Given the description of an element on the screen output the (x, y) to click on. 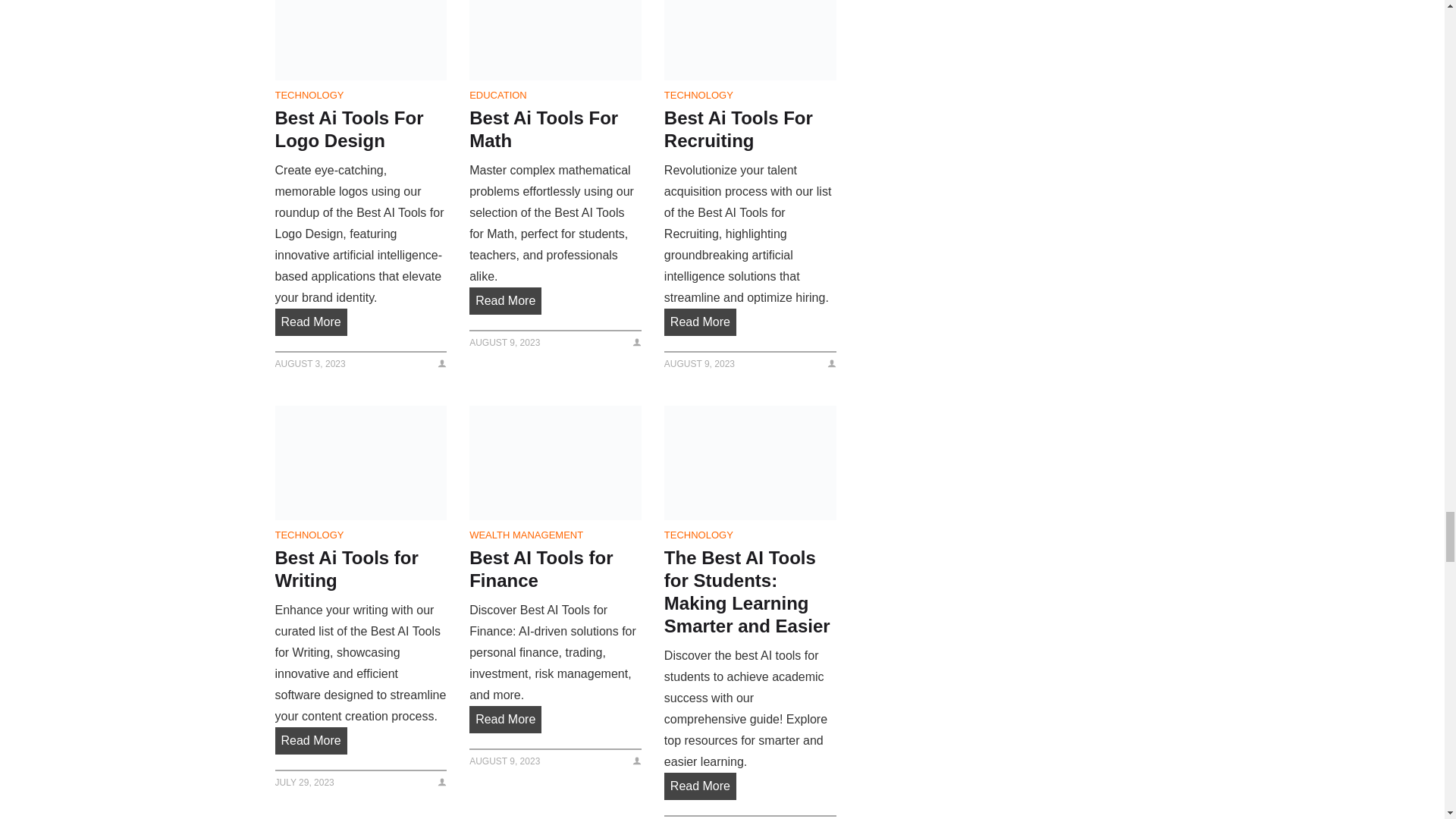
Best AI Tools for Finance (555, 462)
Best Ai Tools For Recruiting (749, 40)
Best Ai Tools for Writing (360, 462)
TECHNOLOGY (309, 94)
Best Ai Tools For Math (555, 40)
Best Ai Tools For Logo Design (360, 40)
Best Ai Tools For Logo Design (360, 129)
